Given the description of an element on the screen output the (x, y) to click on. 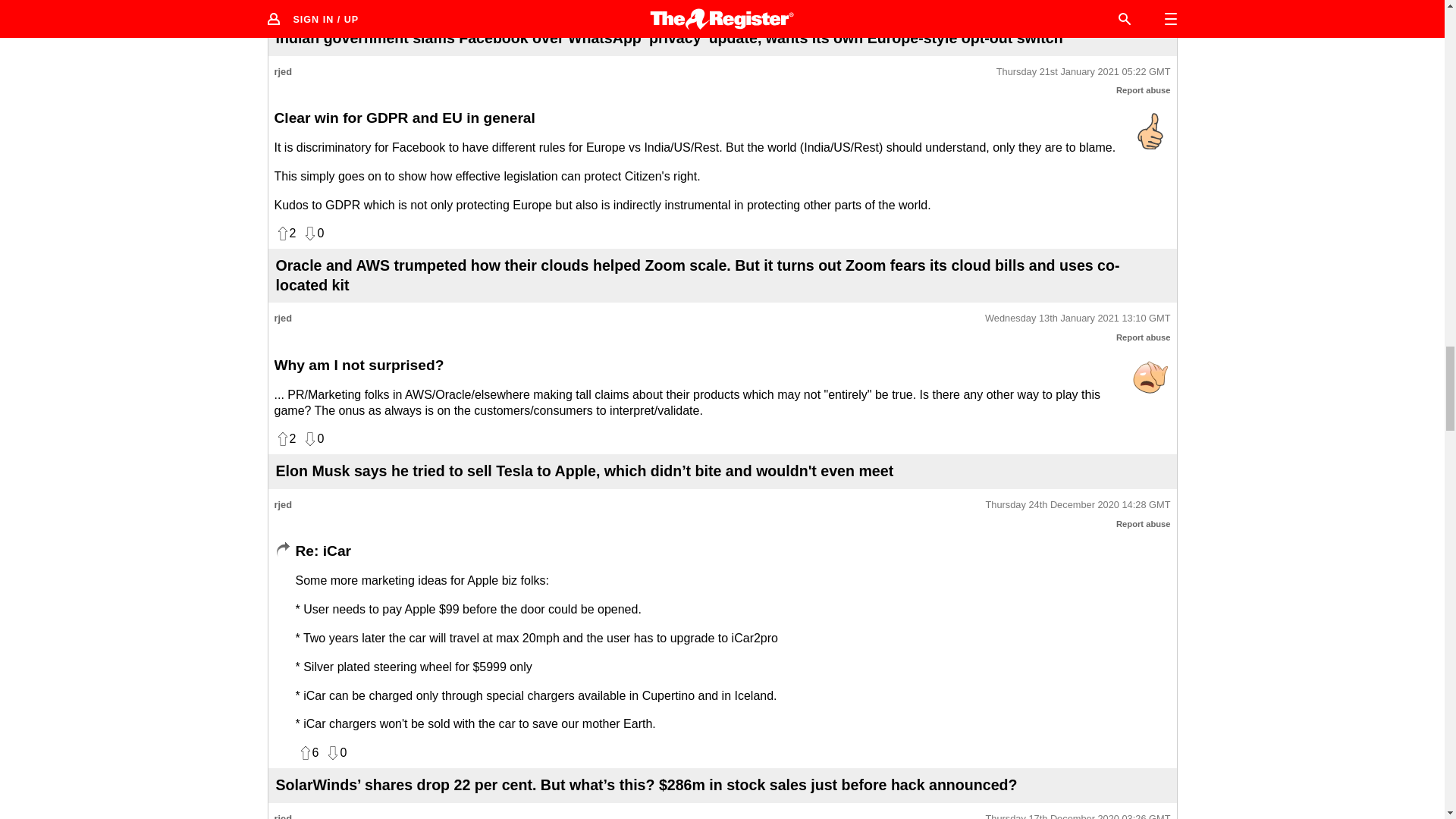
Report abuse (1143, 337)
Report abuse (1143, 523)
Report abuse (1143, 90)
